Given the description of an element on the screen output the (x, y) to click on. 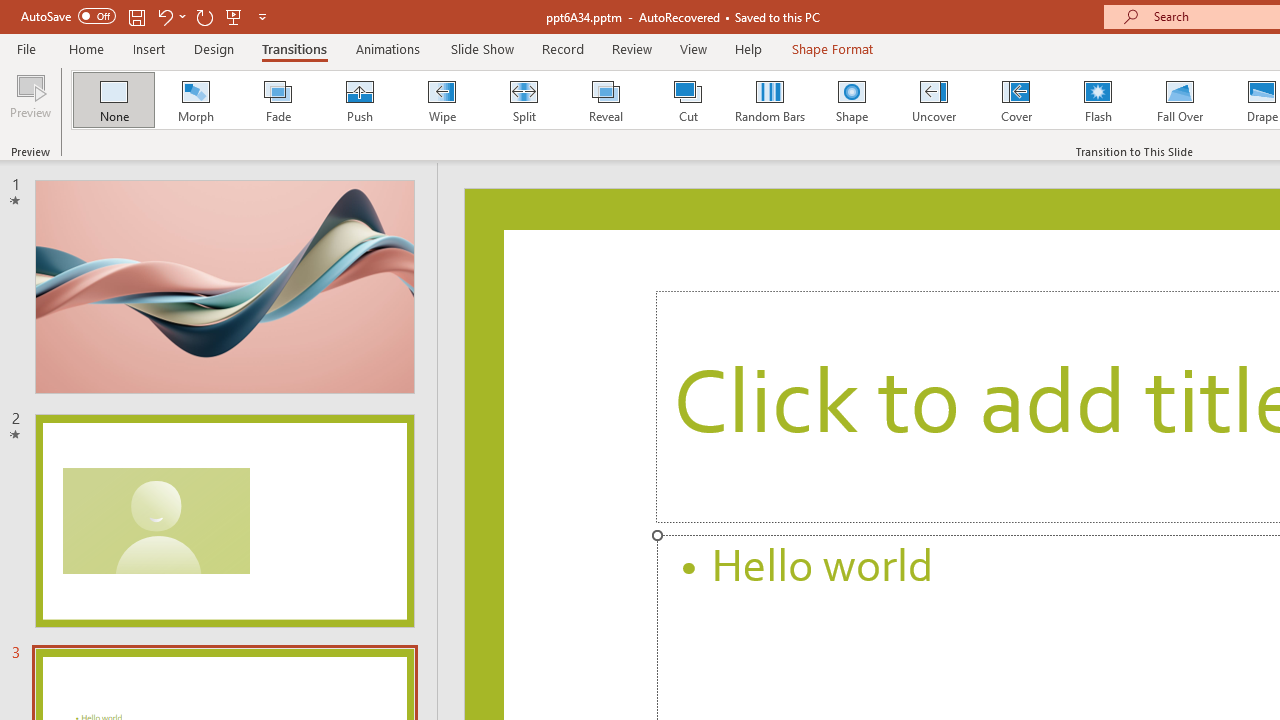
Split (523, 100)
Uncover (934, 100)
Reveal (605, 100)
Fade (277, 100)
Flash (1098, 100)
